Given the description of an element on the screen output the (x, y) to click on. 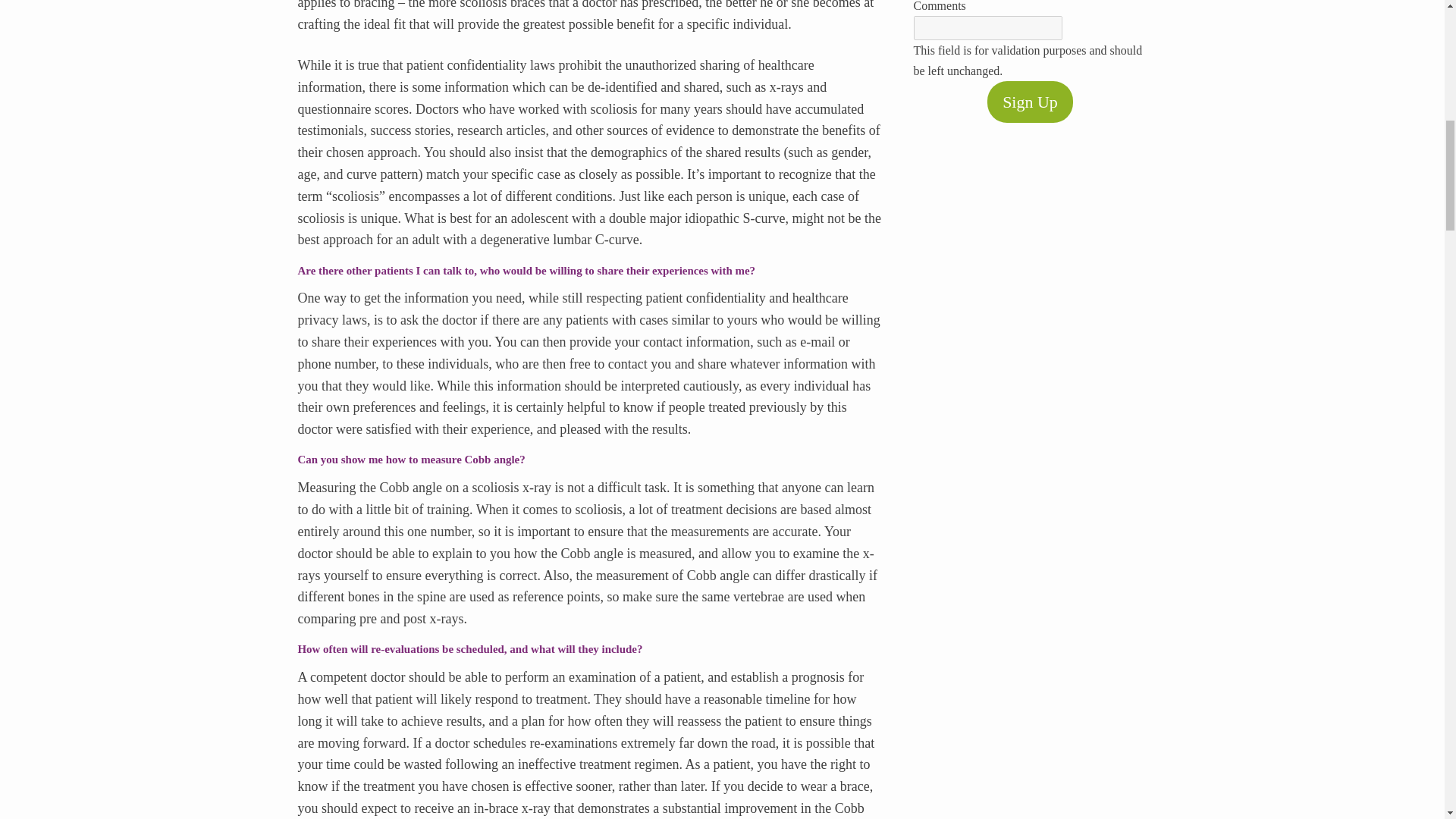
Sign Up (1030, 101)
